Given the description of an element on the screen output the (x, y) to click on. 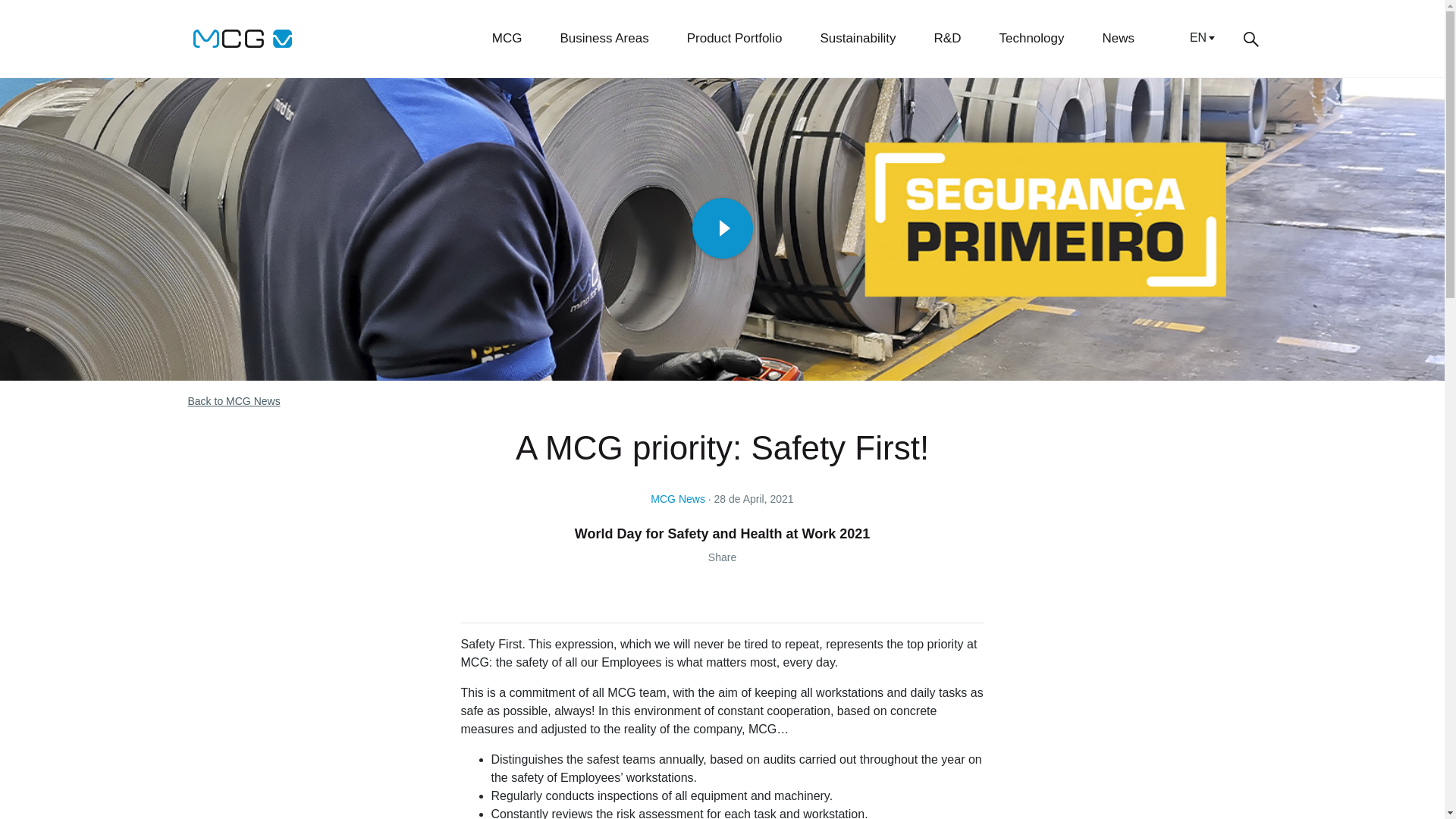
MCG (507, 38)
Technology (1031, 38)
News (1118, 38)
MCG (242, 37)
Product Portfolio (735, 38)
Sustainability (857, 38)
Back to MCG News (234, 400)
Business Areas (604, 38)
